Given the description of an element on the screen output the (x, y) to click on. 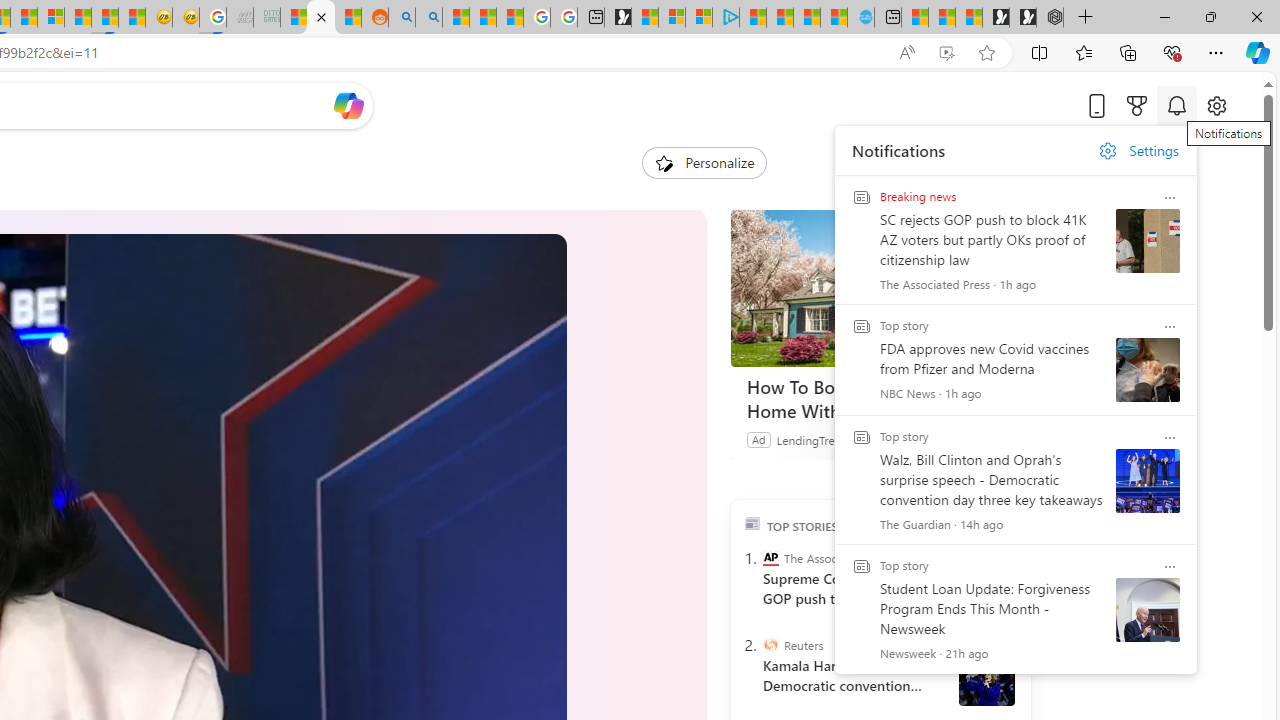
Home | Sky Blue Bikes - Sky Blue Bikes (860, 17)
LendingTree (807, 439)
How To Borrow From Your Home Without Touching Your Mortgage (879, 288)
